Given the description of an element on the screen output the (x, y) to click on. 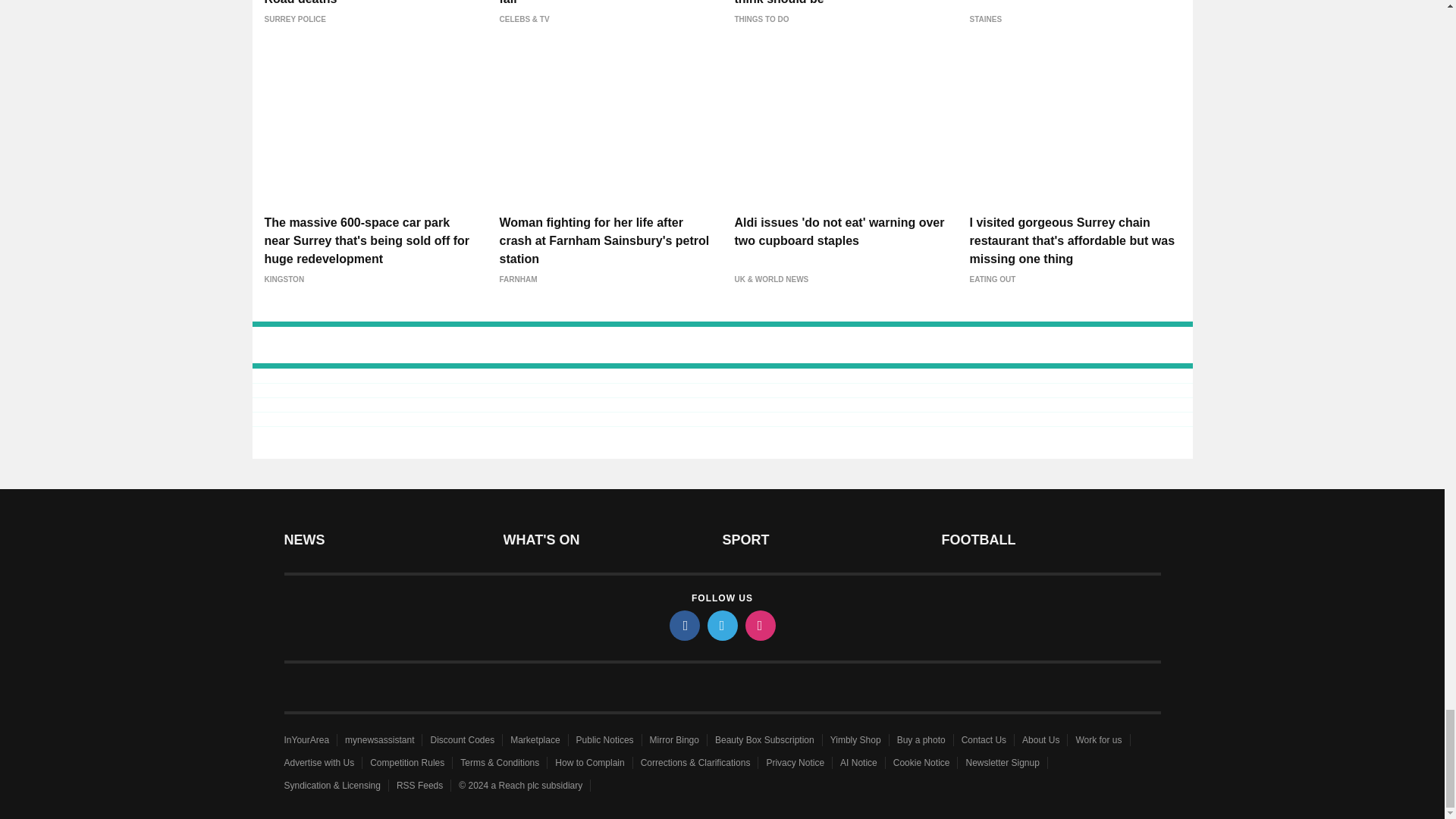
facebook (683, 625)
instagram (759, 625)
twitter (721, 625)
